Given the description of an element on the screen output the (x, y) to click on. 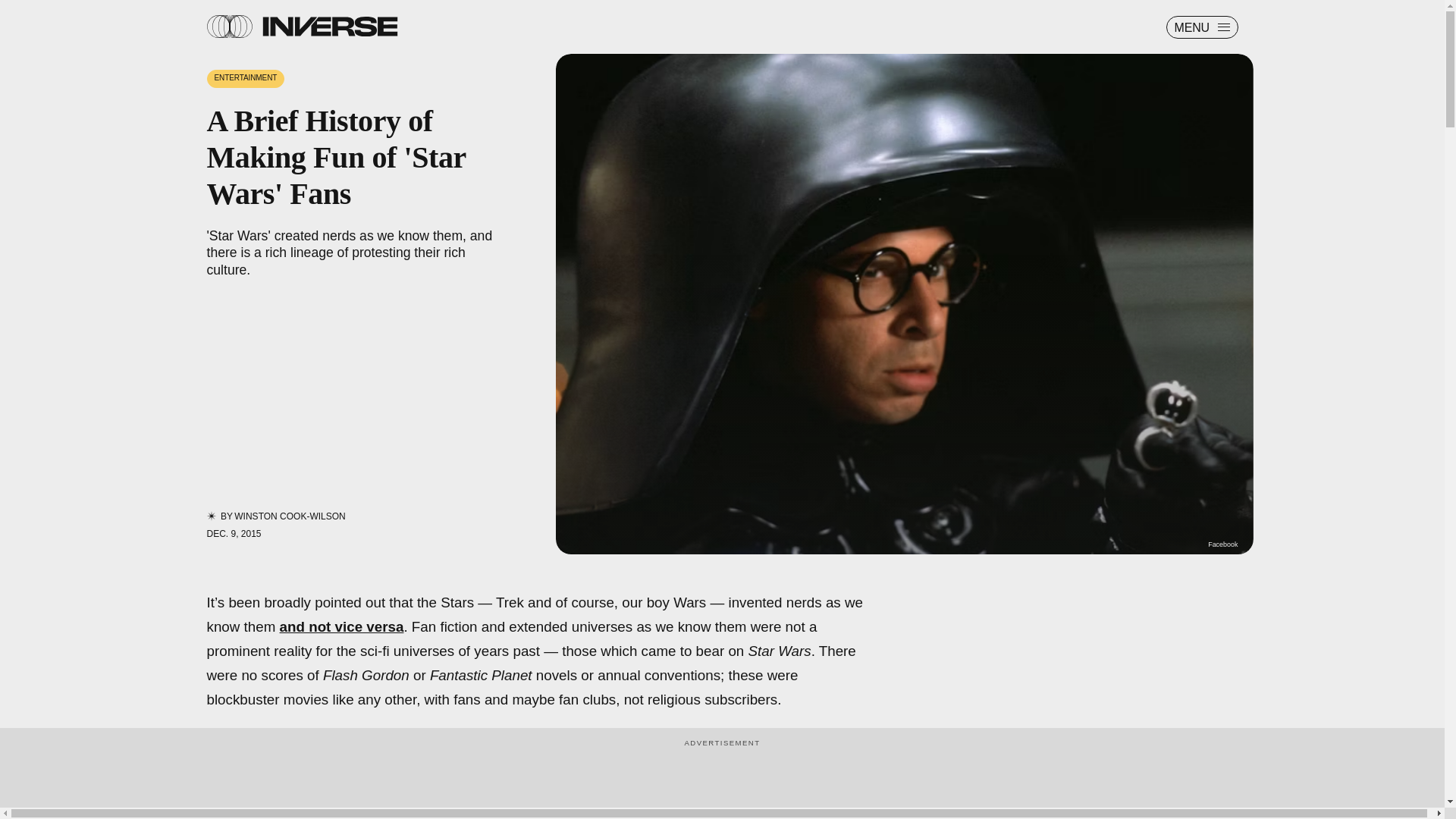
Inverse (328, 26)
WINSTON COOK-WILSON (289, 515)
and not vice versa (341, 626)
